Given the description of an element on the screen output the (x, y) to click on. 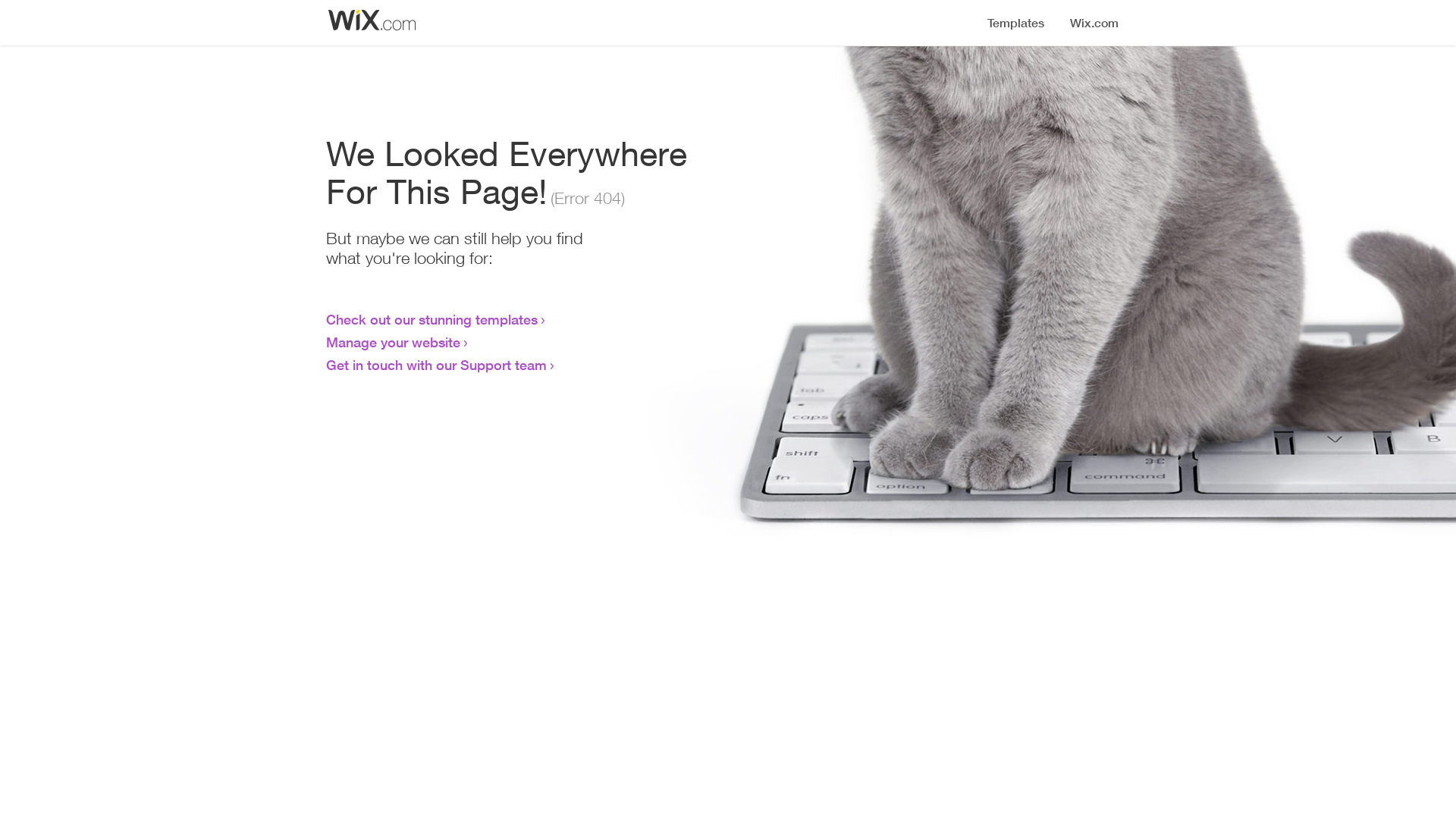
Get in touch with our Support team Element type: text (436, 364)
Check out our stunning templates Element type: text (431, 318)
Manage your website Element type: text (393, 341)
